Given the description of an element on the screen output the (x, y) to click on. 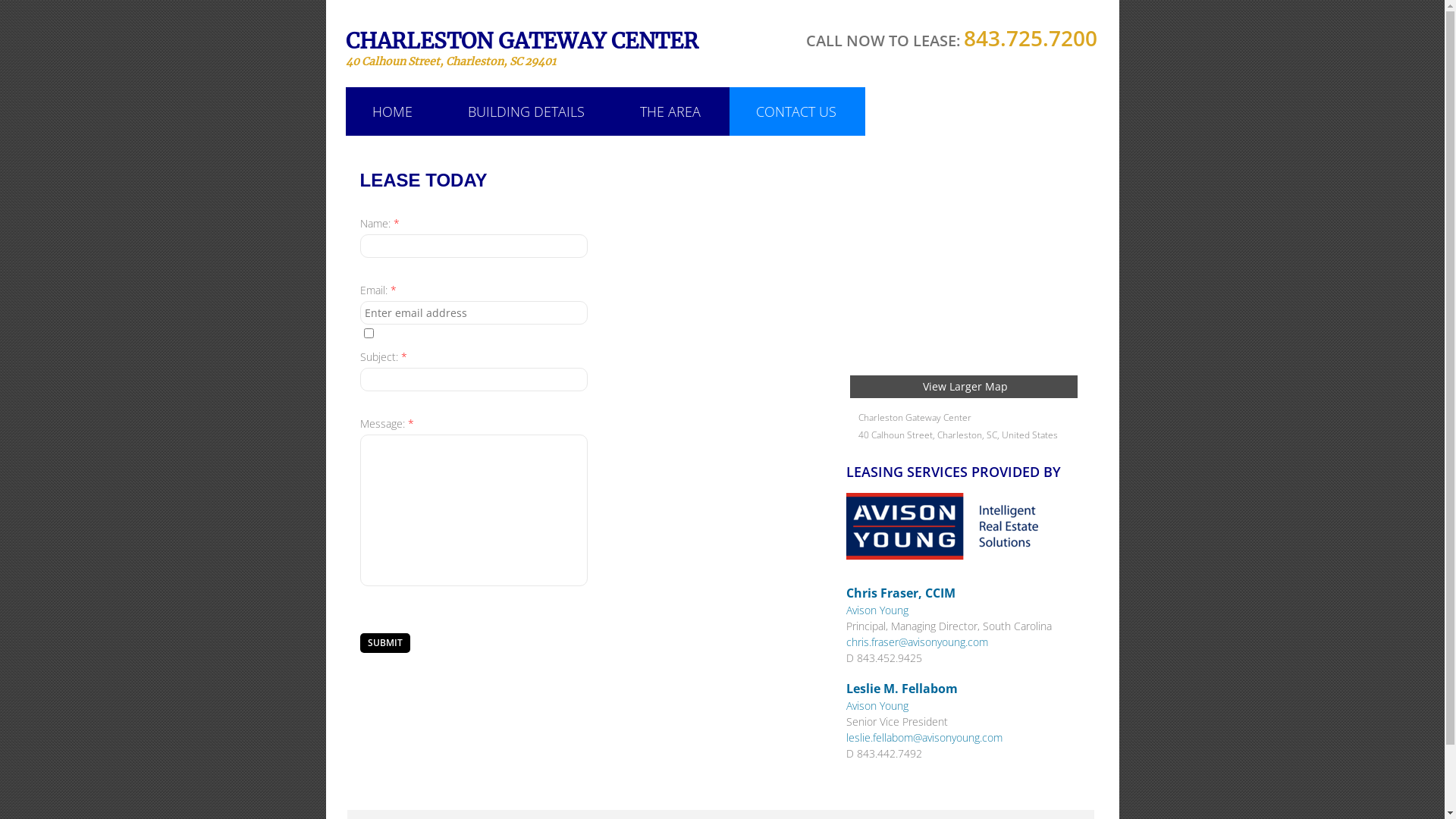
HOME Element type: text (392, 110)
View Larger Map Element type: text (962, 386)
THE AREA Element type: text (669, 110)
Avison Young Element type: text (877, 609)
BUILDING DETAILS Element type: text (526, 110)
Leslie M. Fellabom Element type: text (901, 688)
CONTACT US Element type: text (795, 110)
chris.fraser@avisonyoung.com Element type: text (917, 641)
Chris Fraser, CCIM Element type: text (900, 593)
Avison Young Element type: text (877, 705)
leslie.fellabom@avisonyoung.com Element type: text (924, 737)
